Given the description of an element on the screen output the (x, y) to click on. 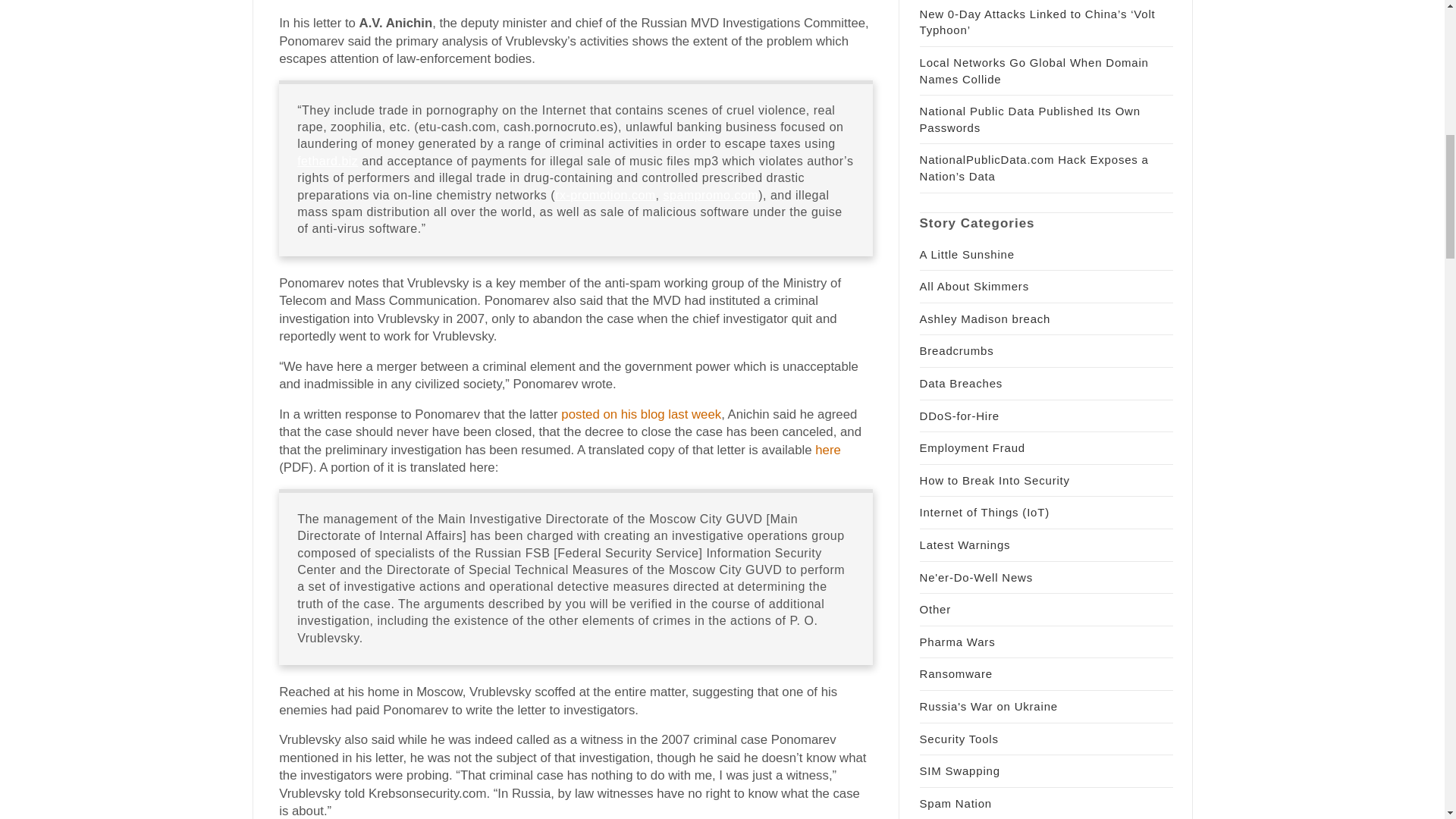
posted on his blog last week (640, 414)
rx-promotion.com (604, 195)
here (828, 450)
fethard.biz (327, 160)
spampromo.com (710, 195)
